Given the description of an element on the screen output the (x, y) to click on. 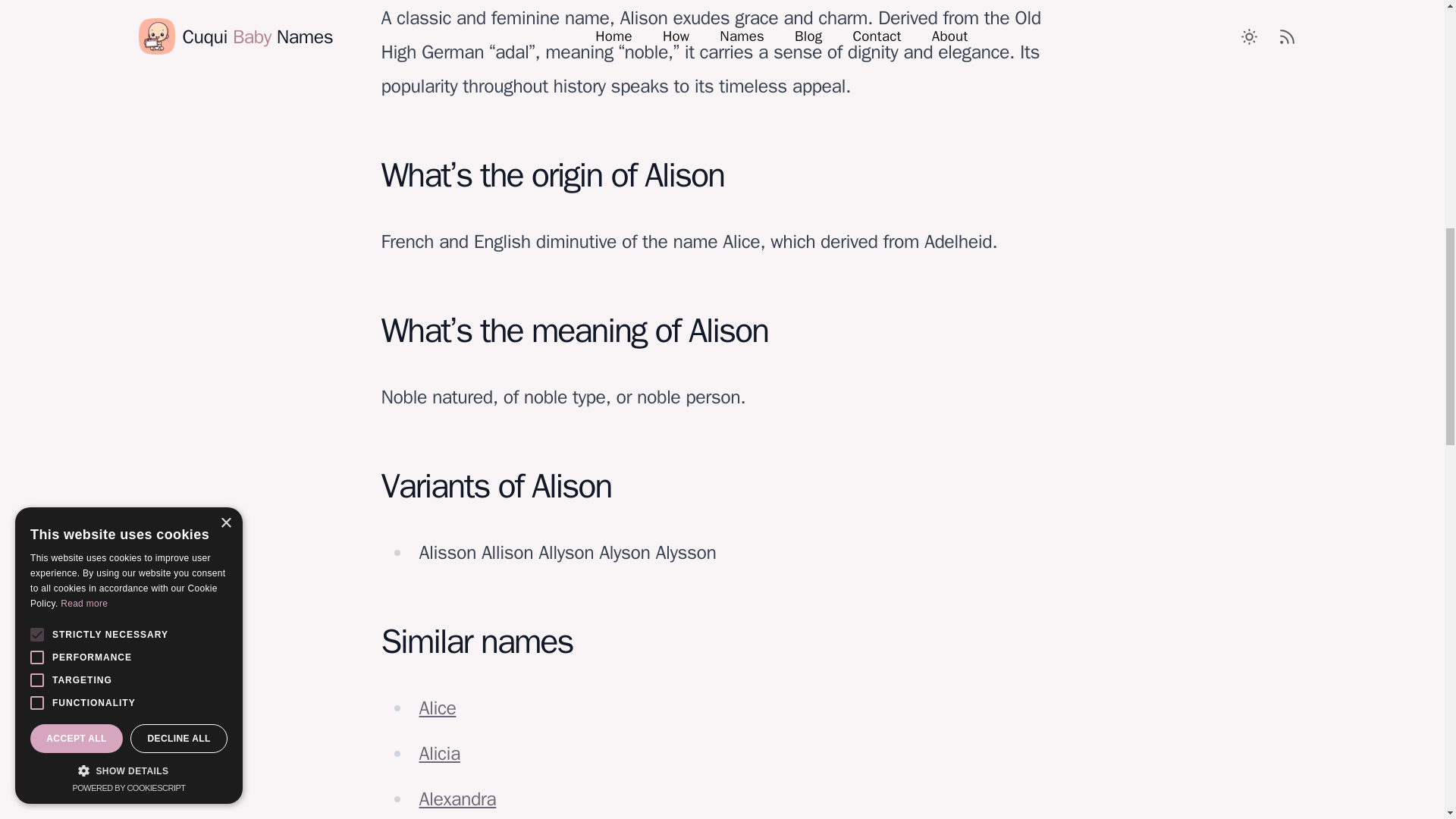
Alexandra (457, 798)
Alicia (439, 753)
Alice (437, 707)
